Given the description of an element on the screen output the (x, y) to click on. 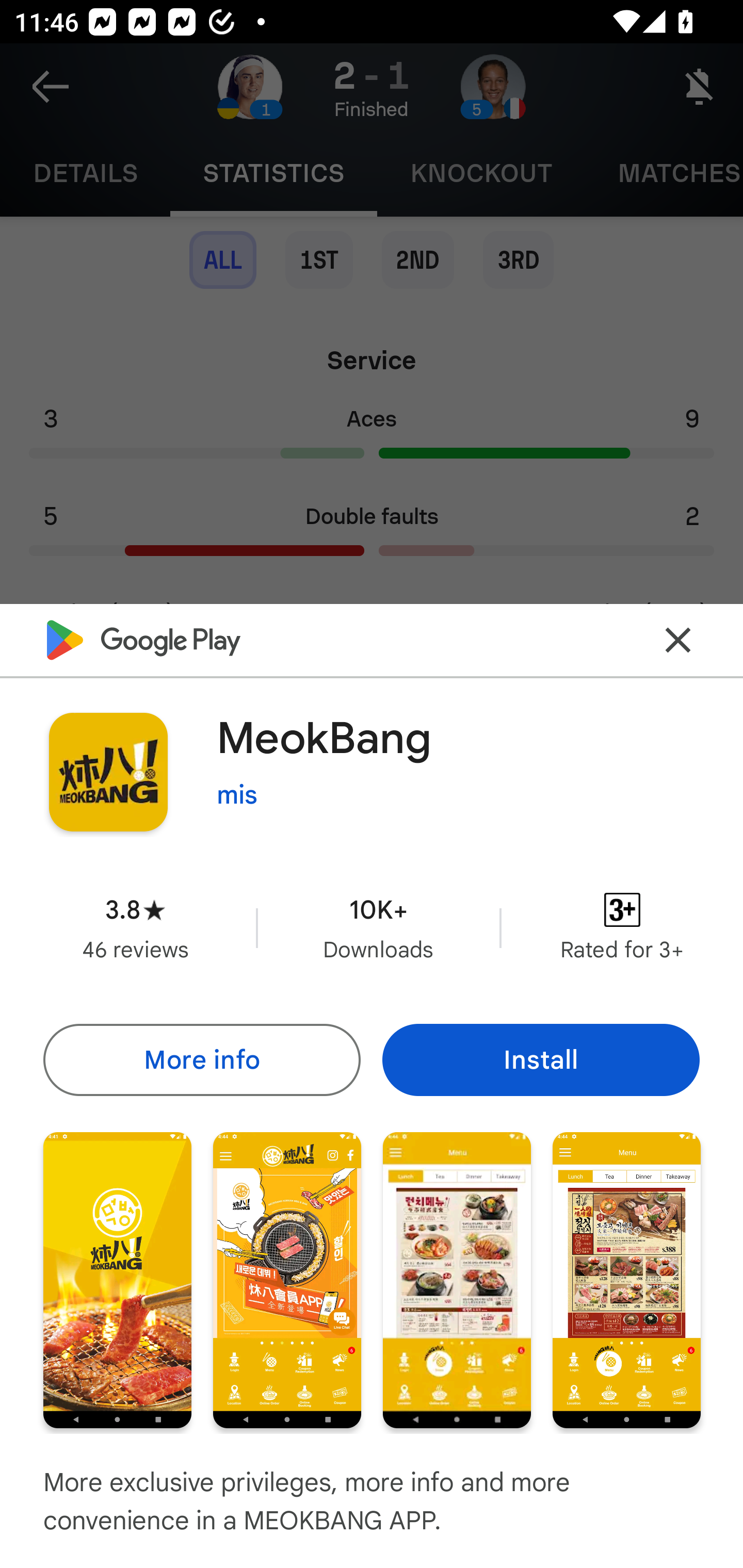
Close (677, 639)
Image of app or game icon for MeokBang (108, 772)
mis (236, 793)
More info (201, 1059)
Install (540, 1059)
Screenshot "1" of "4" (117, 1280)
Screenshot "2" of "4" (287, 1280)
Screenshot "3" of "4" (456, 1280)
Screenshot "4" of "4" (626, 1280)
